Given the description of an element on the screen output the (x, y) to click on. 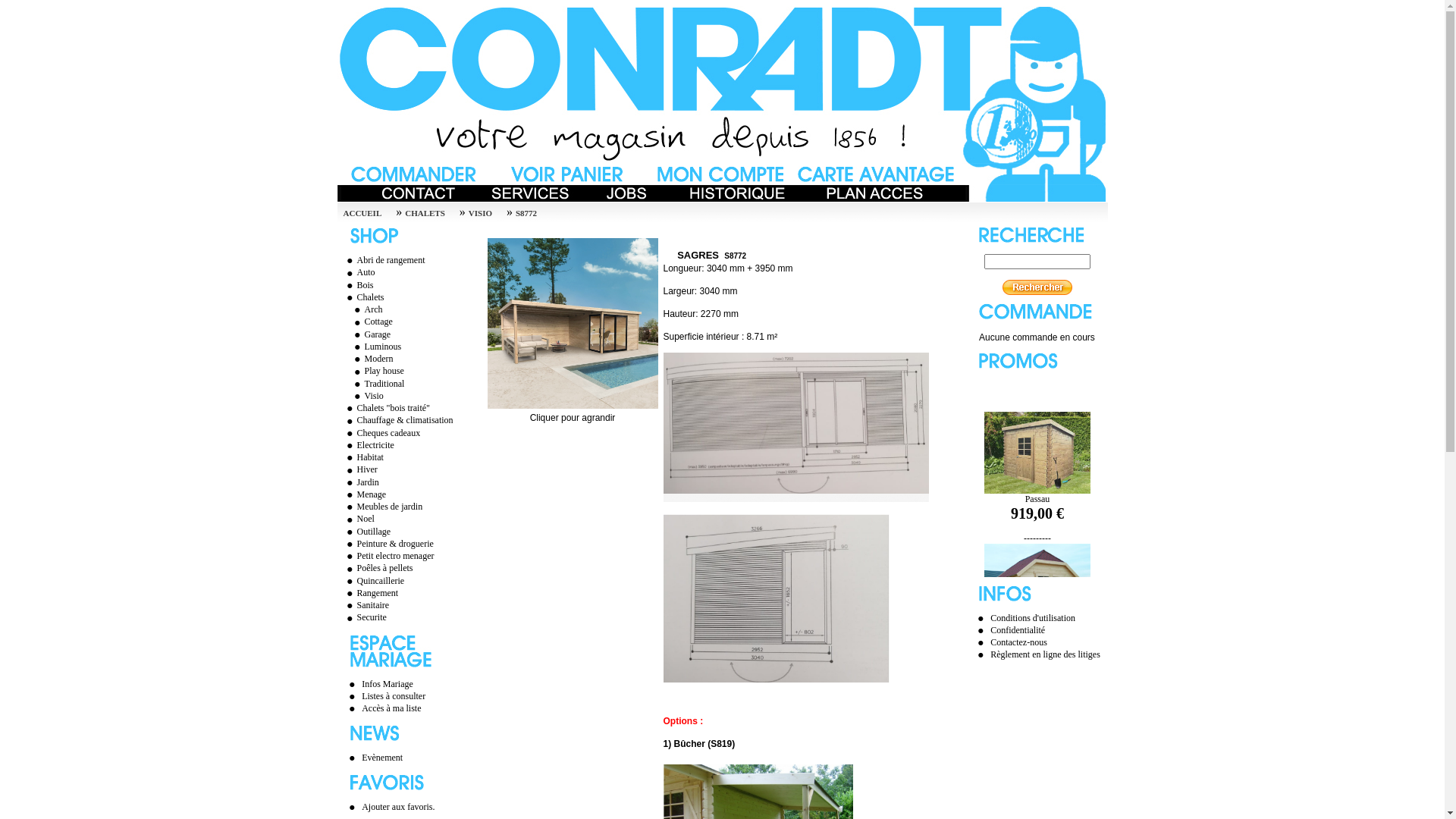
Noel Element type: text (358, 517)
Jardin Element type: text (360, 479)
Auto Element type: text (358, 270)
 Recherche rapide  Element type: hover (1037, 286)
Meubles de jardin Element type: text (382, 504)
Cottage Element type: text (371, 319)
Contactez-nous Element type: text (1018, 640)
Traditional Element type: text (377, 381)
Habitat Element type: text (362, 455)
Ajouter aux favoris. Element type: text (397, 805)
S8772 Element type: text (531, 211)
Garage Element type: text (370, 332)
Luminous Element type: text (375, 344)
Cheques cadeaux Element type: text (381, 431)
Passau Element type: text (1036, 518)
Abri de rangement Element type: text (383, 258)
Peinture & droguerie Element type: text (387, 542)
Petit electro menager Element type: text (388, 554)
Cliquer pour agrandir Element type: text (572, 413)
ACCUEIL Element type: text (367, 211)
Infos Mariage Element type: text (387, 682)
Chalets Element type: text (363, 295)
Saran Element type: text (1036, 776)
Conditions d'utilisation Element type: text (1032, 616)
VISIO Element type: text (485, 211)
 Saran  Element type: hover (1037, 717)
Modern Element type: text (371, 357)
Bois Element type: text (357, 282)
Menage Element type: text (364, 492)
Arch Element type: text (366, 307)
Sanitaire Element type: text (365, 603)
Outillage Element type: text (366, 529)
Chauffage & climatisation Element type: text (397, 418)
 Passau  Element type: hover (1037, 457)
CHALETS Element type: text (430, 211)
Visio Element type: text (366, 394)
Rangement Element type: text (370, 591)
Play house Element type: text (377, 369)
Hiver Element type: text (359, 467)
Quincaillerie Element type: text (373, 578)
Limerick Element type: text (1037, 647)
Electricite Element type: text (368, 443)
 Limerick  Element type: hover (1037, 588)
 Sagres  Element type: hover (571, 323)
Securite Element type: text (364, 615)
